Given the description of an element on the screen output the (x, y) to click on. 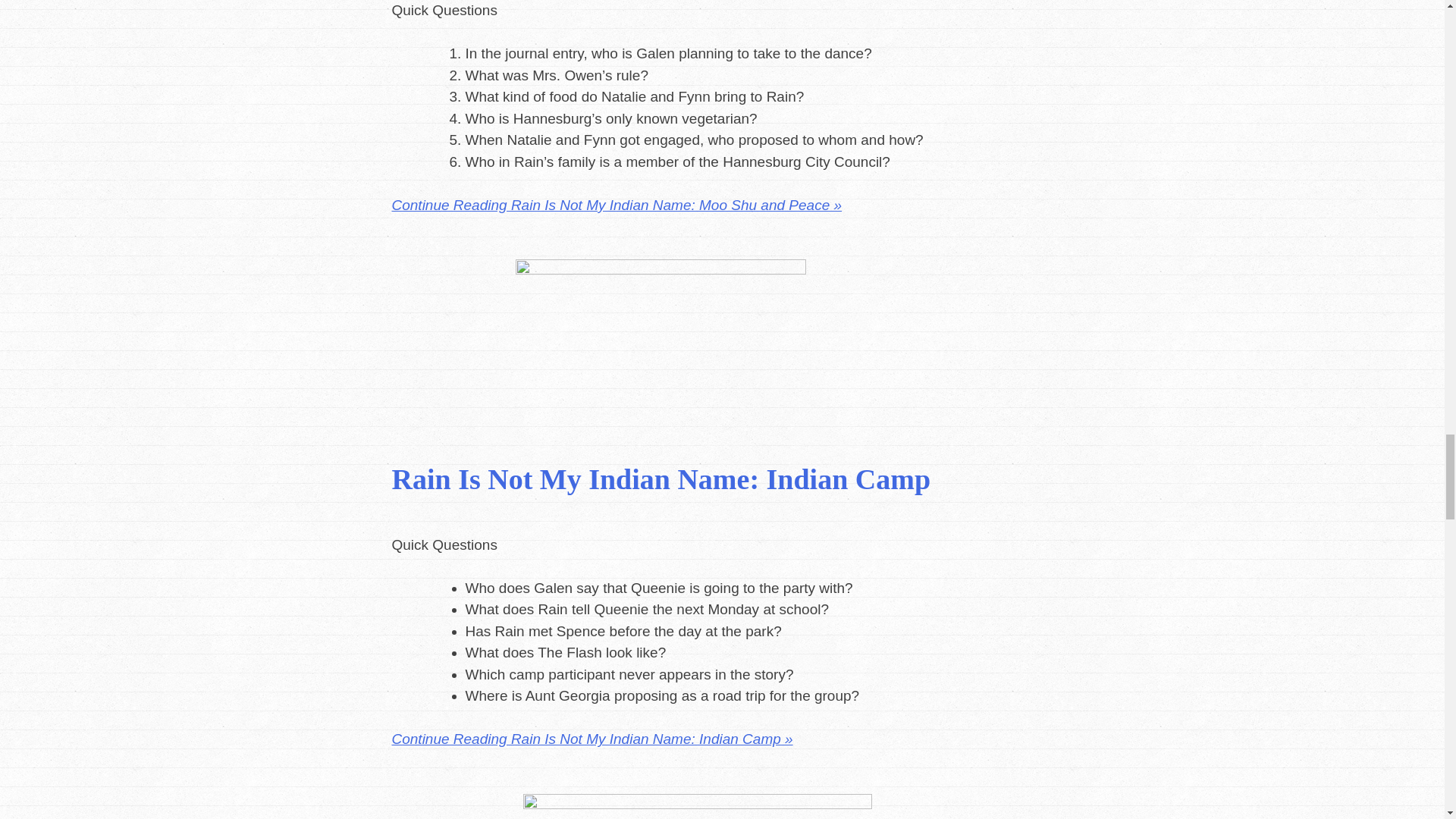
Rain Is Not My Indian Name: Indian Camp (660, 479)
